Given the description of an element on the screen output the (x, y) to click on. 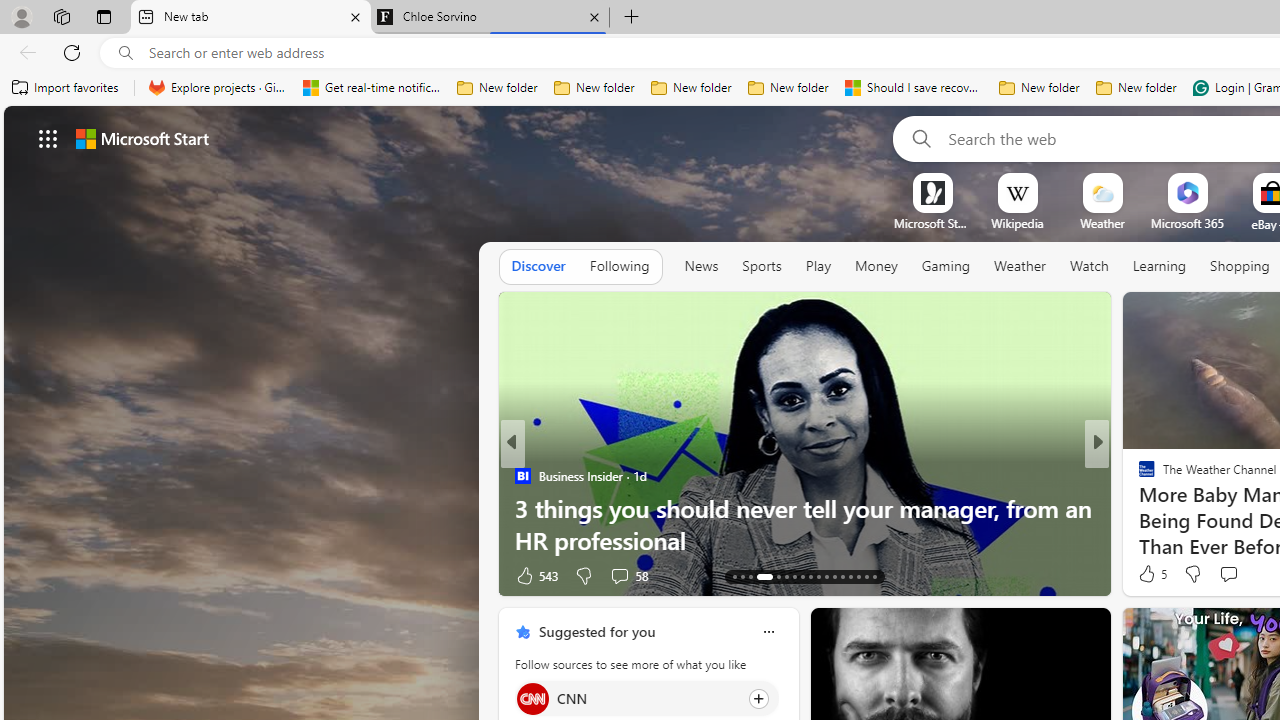
CNN (532, 697)
Wikipedia (1017, 223)
Women's Health (522, 475)
BuzzFeed (1138, 475)
Chloe Sorvino (490, 17)
Microsoft Start Gaming (932, 223)
AutomationID: tab-42 (874, 576)
AutomationID: tab-16 (757, 576)
Suggested for you (596, 631)
View comments 247 Comment (1234, 575)
View comments 2 Comment (1234, 574)
Gaming (945, 267)
Indy 100 (1138, 475)
